Given the description of an element on the screen output the (x, y) to click on. 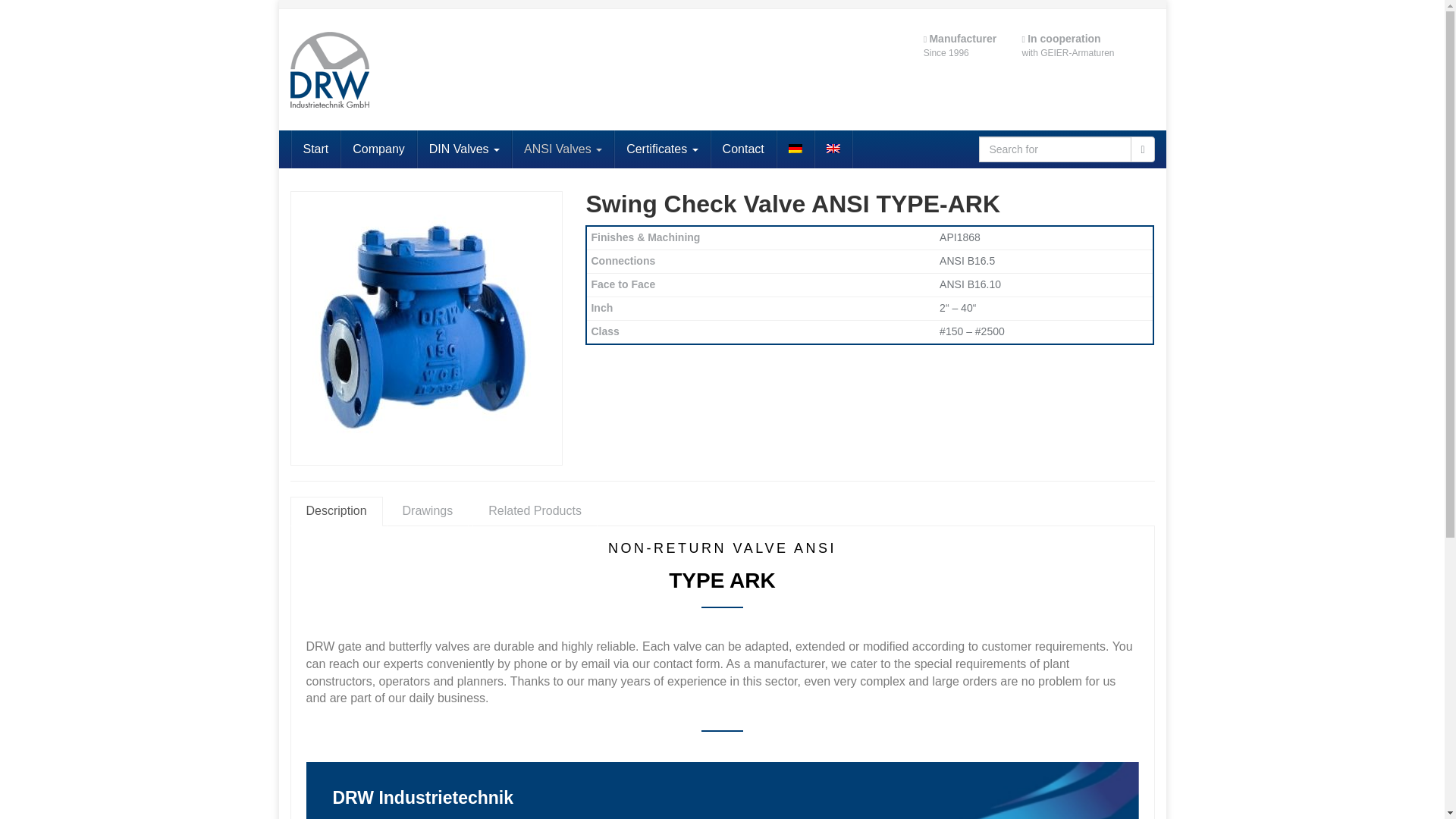
Company (377, 149)
DRW Armaturen (425, 69)
Start (315, 149)
ANSI Valves (562, 149)
DIN Valves (464, 149)
